Given the description of an element on the screen output the (x, y) to click on. 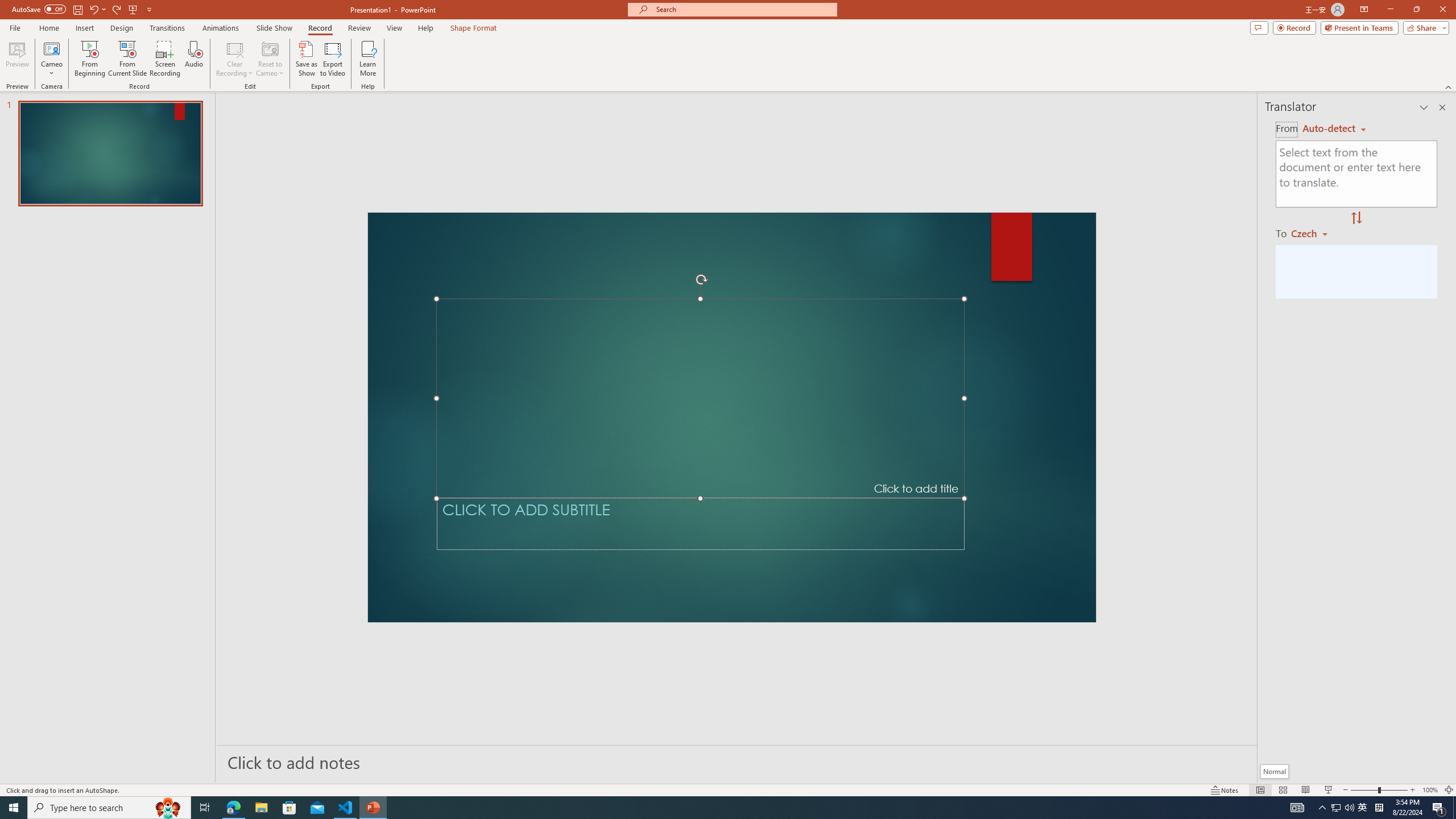
Screen Recording (165, 58)
Export to Video (332, 58)
Swap "from" and "to" languages. (1355, 218)
